Given the description of an element on the screen output the (x, y) to click on. 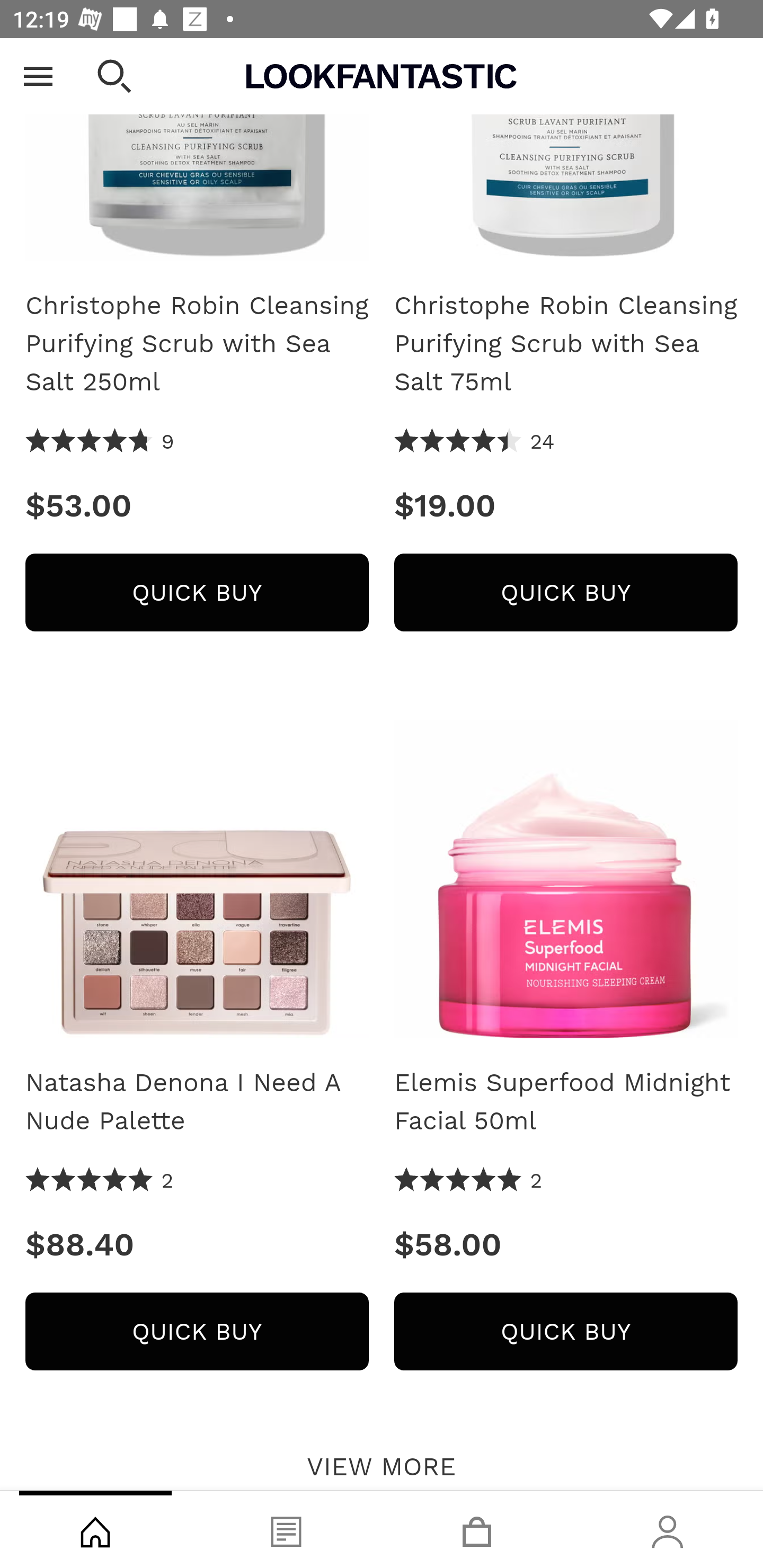
4.78 Stars 9 Reviews (99, 442)
4.46 Stars 24 Reviews (475, 442)
Price: $53.00 (196, 505)
Price: $19.00 (565, 505)
Natasha Denona I Need A Nude Palette (196, 873)
Elemis Superfood Midnight Facial 50ml (565, 873)
Natasha Denona I Need A Nude Palette (196, 1102)
Elemis Superfood Midnight Facial 50ml (565, 1102)
5.0 Stars 2 Reviews (99, 1181)
5.0 Stars 2 Reviews (468, 1181)
Price: $88.40 (196, 1244)
Price: $58.00 (565, 1244)
QUICK BUY NATASHA DENONA I NEED A NUDE PALETTE (196, 1332)
QUICK BUY ELEMIS SUPERFOOD MIDNIGHT FACIAL 50ML (565, 1332)
VIEW MORE (381, 1462)
Shop, tab, 1 of 4 (95, 1529)
Blog, tab, 2 of 4 (285, 1529)
Basket, tab, 3 of 4 (476, 1529)
Account, tab, 4 of 4 (667, 1529)
